Given the description of an element on the screen output the (x, y) to click on. 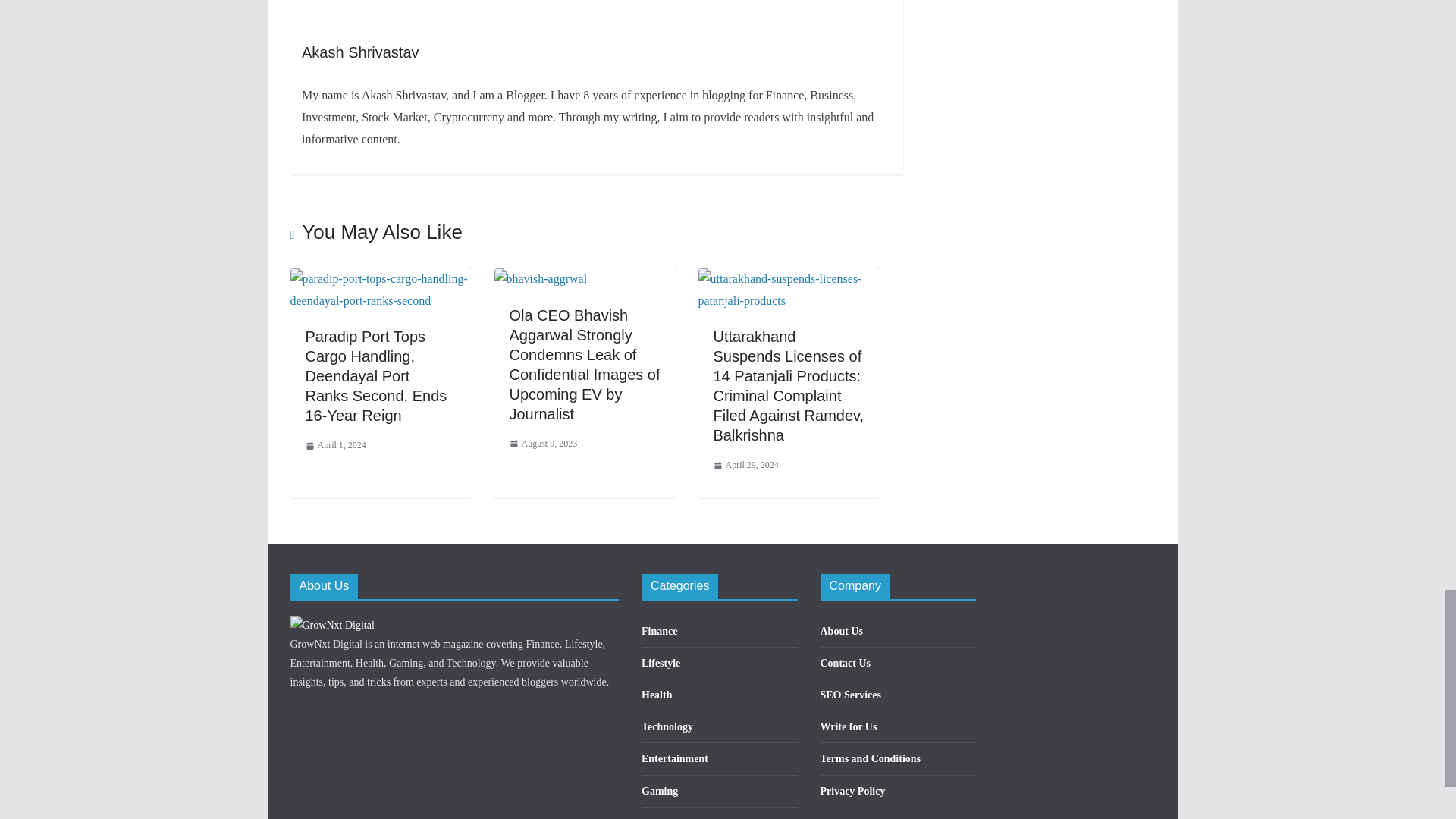
3:35 pm (543, 443)
10:56 pm (334, 445)
